Given the description of an element on the screen output the (x, y) to click on. 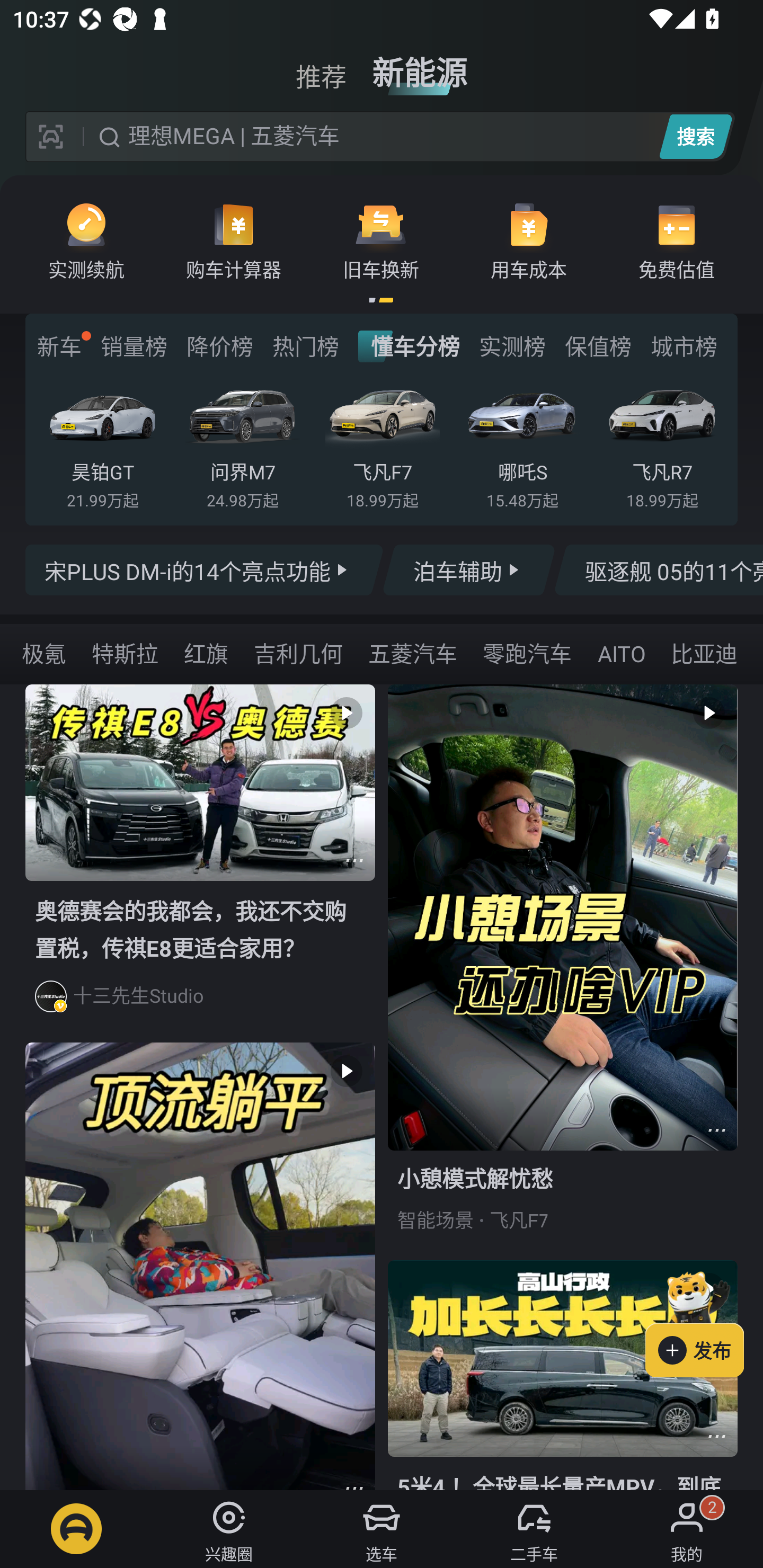
推荐 (321, 65)
新能源 (419, 65)
搜索 (695, 136)
实测续航 (86, 240)
购车计算器 (233, 240)
旧车换新 (380, 240)
用车成本 (528, 240)
免费估值 (676, 240)
新车 (59, 346)
销量榜 (133, 346)
降价榜 (219, 346)
热门榜 (305, 346)
懂车分榜 (408, 346)
实测榜 (512, 346)
保值榜 (597, 346)
城市榜 (683, 346)
昊铂GT 21.99万起 (102, 442)
问界M7 24.98万起 (242, 442)
飞凡F7 18.99万起 (382, 442)
哪吒S 15.48万起 (522, 442)
飞凡R7 18.99万起 (662, 442)
宋PLUS DM-i的14个亮点功能 (204, 569)
泊车辅助 (468, 569)
驱逐舰 05的11个亮点功能 (658, 569)
极氪 (43, 652)
特斯拉 (124, 652)
红旗 (205, 652)
吉利几何 (298, 652)
五菱汽车 (412, 652)
零跑汽车 (527, 652)
AITO (620, 652)
比亚迪 (703, 652)
  奥德赛会的我都会，我还不交购置税，传祺E8更适合家用？ 十三先生Studio (200, 862)
  小憩模式解忧愁 智能场景 飞凡F7 (562, 971)
 (354, 860)
  (200, 1265)
 (716, 1130)
飞凡F7 (518, 1220)
  5米4 ！全球最长量产MPV，到底好不好开？ (562, 1374)
发布 (704, 1320)
 (716, 1436)
 兴趣圈 (228, 1528)
 选车 (381, 1528)
 二手车 (533, 1528)
 我的 (686, 1528)
